Given the description of an element on the screen output the (x, y) to click on. 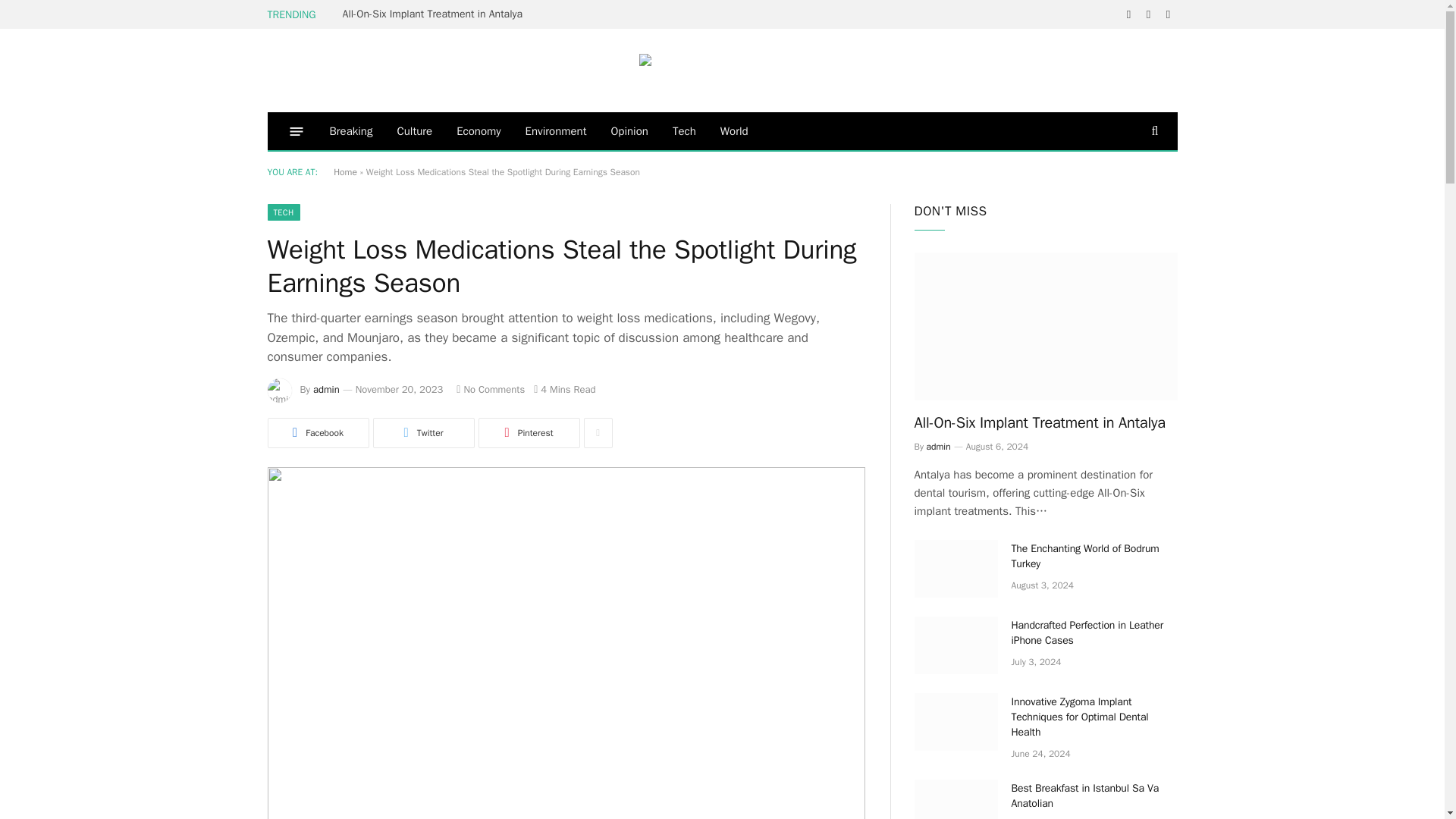
Culture (414, 130)
Share on Facebook (317, 432)
Tech (684, 130)
Breaking (350, 130)
Environment (555, 130)
Reality News Live (722, 70)
Opinion (628, 130)
Posts by admin (326, 389)
TECH (282, 211)
World (733, 130)
